Given the description of an element on the screen output the (x, y) to click on. 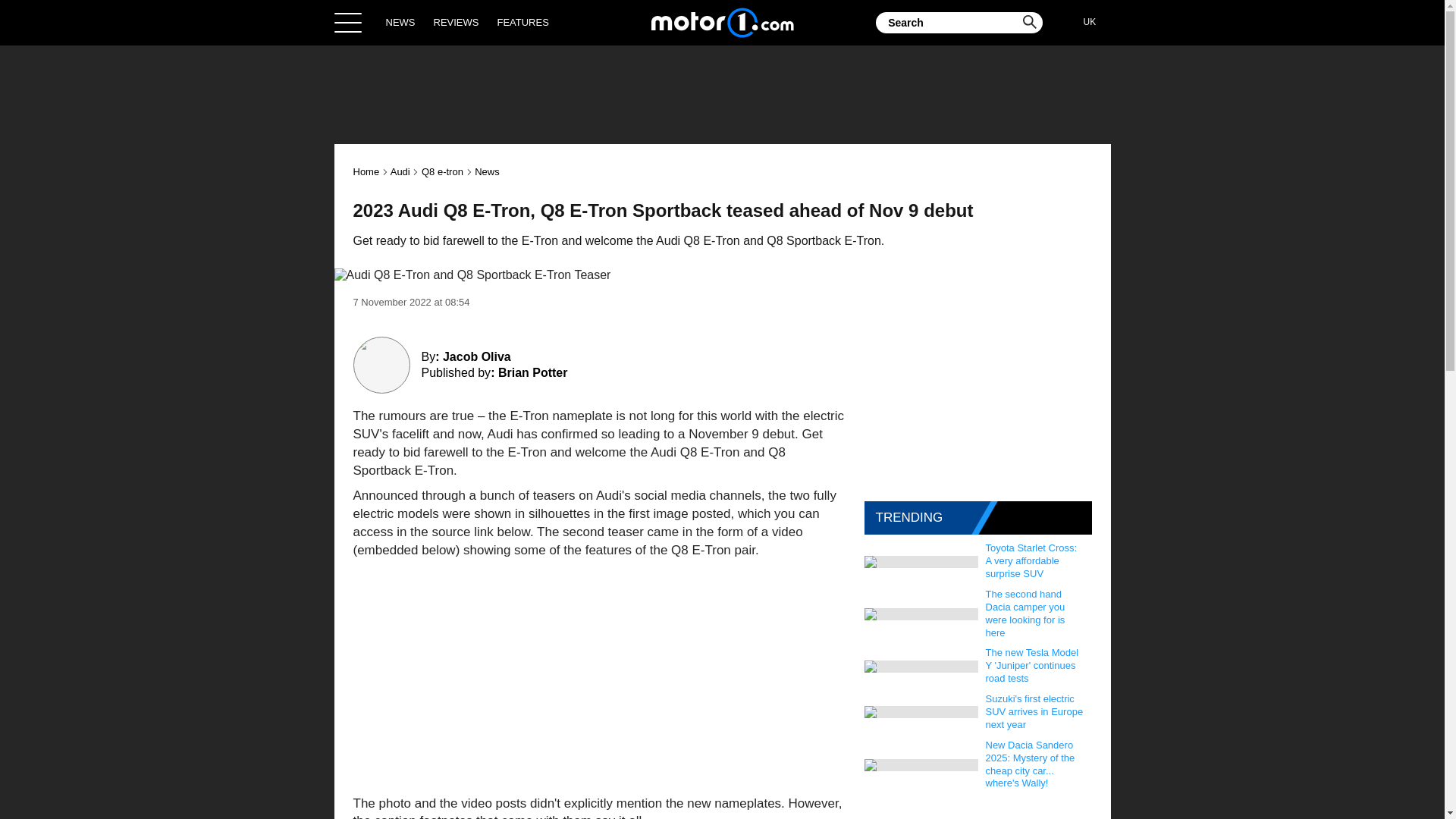
Brian Potter (532, 372)
Toyota Starlet Cross: A very affordable surprise SUV (1035, 561)
REVIEWS (456, 22)
Home (366, 171)
Home (721, 22)
FEATURES (522, 22)
Q8 e-tron (442, 171)
The new Tesla Model Y 'Juniper' continues road tests (1035, 666)
NEWS (399, 22)
Audi (400, 171)
